Given the description of an element on the screen output the (x, y) to click on. 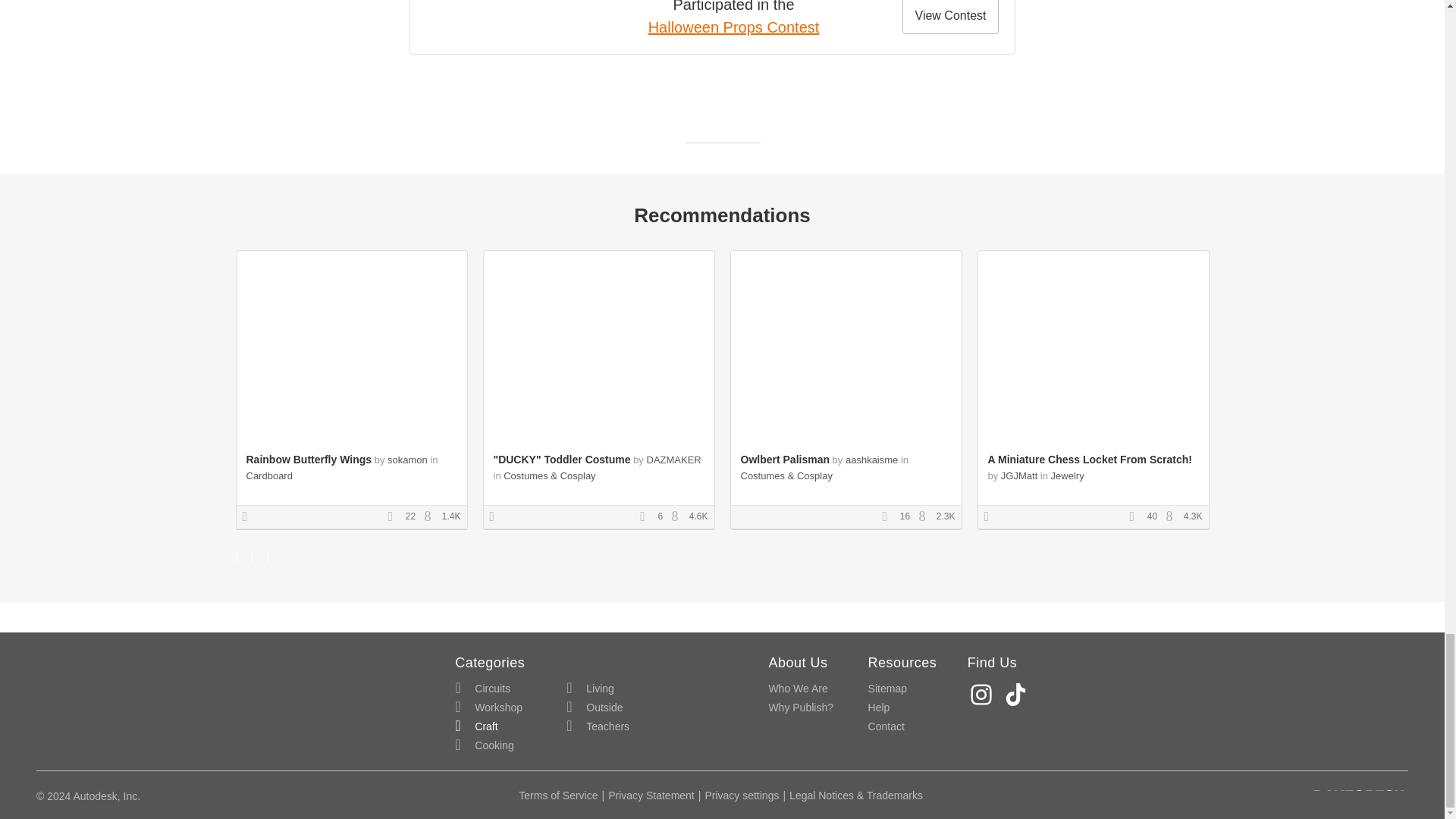
TikTok (1018, 694)
Favorites Count (647, 516)
View Contest (950, 17)
Halloween Props Contest (733, 27)
Views Count (925, 516)
Favorites Count (889, 516)
Rainbow Butterfly Wings (308, 459)
Views Count (1173, 516)
Jewelry (1067, 475)
Views Count (678, 516)
